Given the description of an element on the screen output the (x, y) to click on. 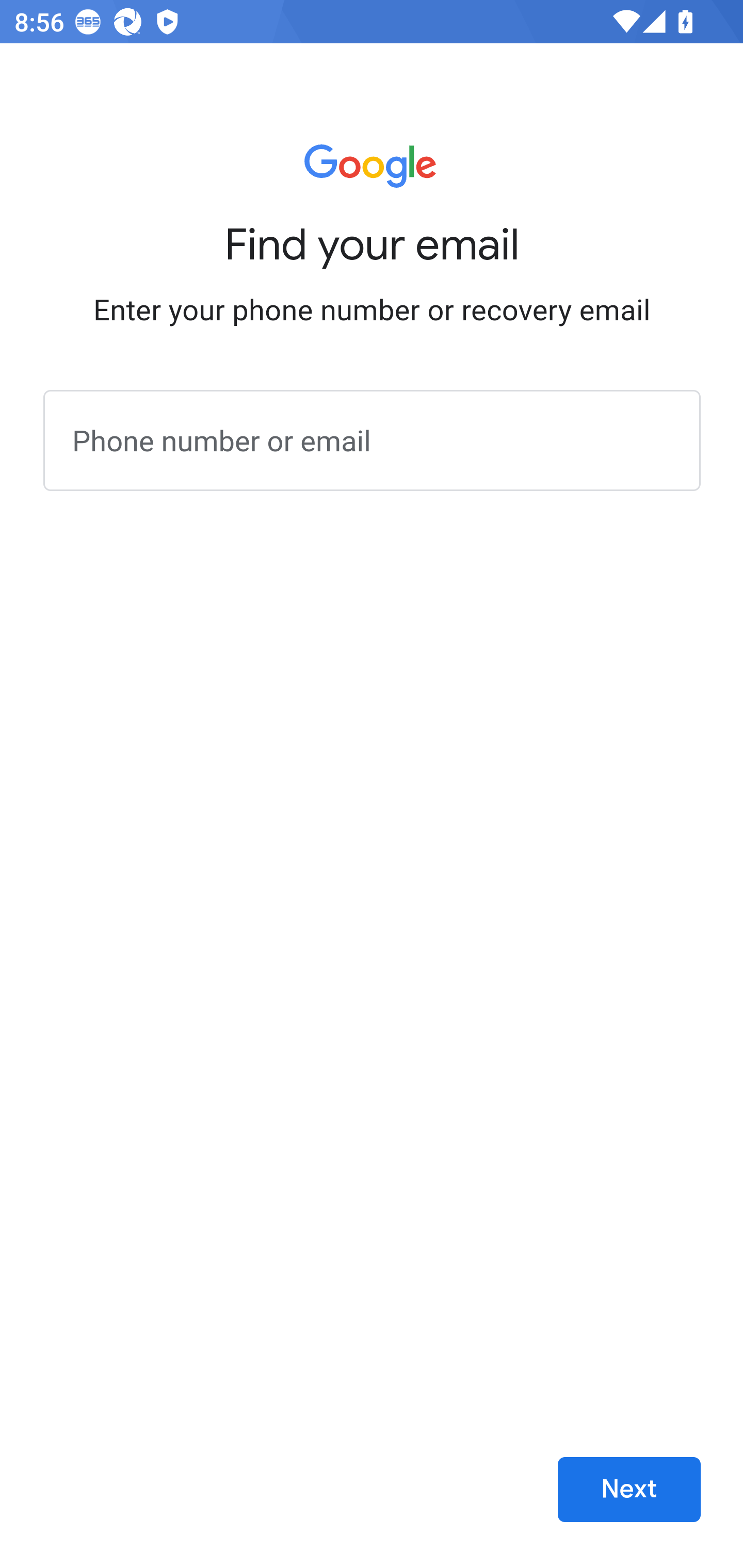
Next (629, 1490)
